Given the description of an element on the screen output the (x, y) to click on. 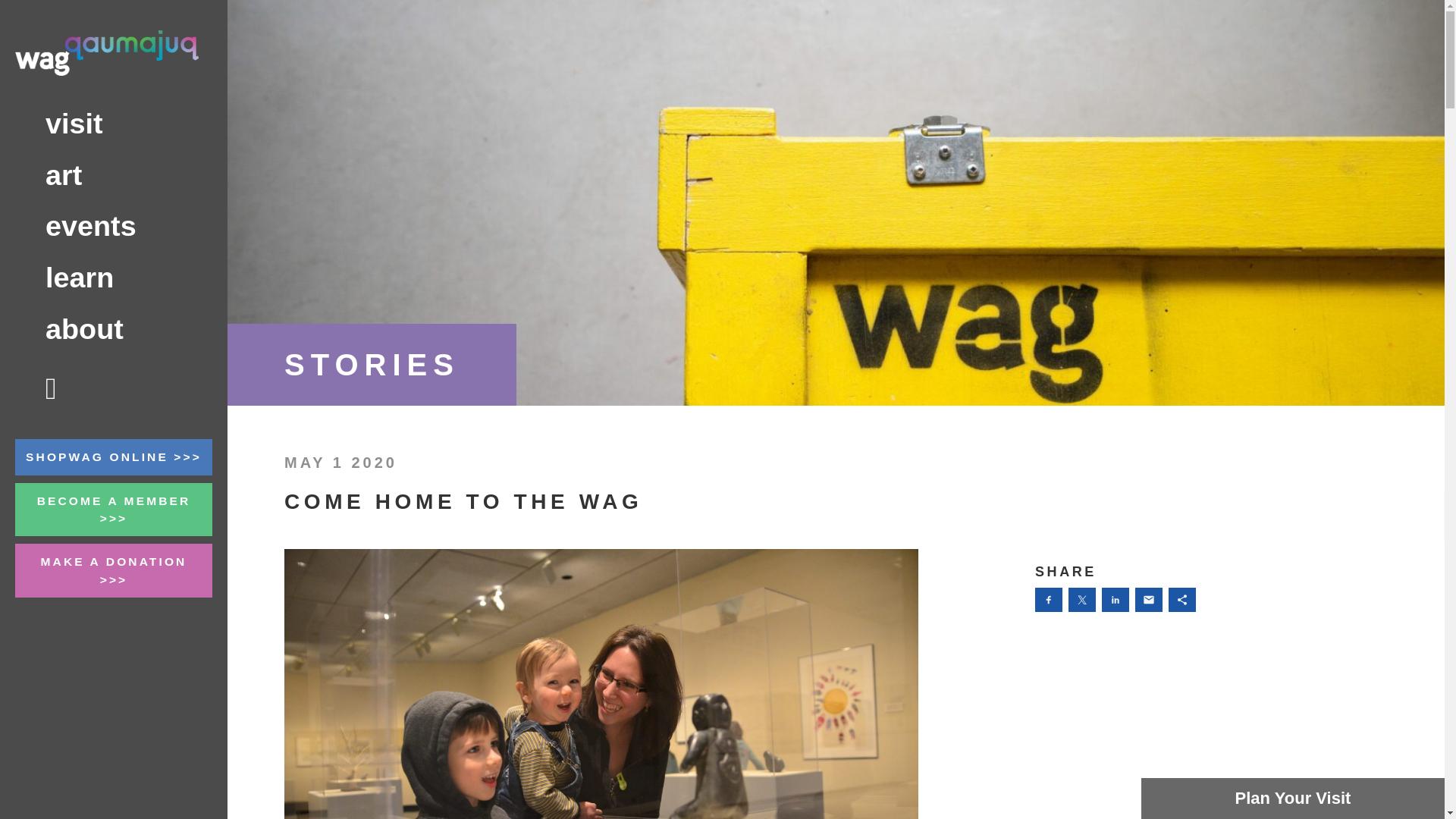
learn (113, 277)
visit (113, 123)
about (113, 329)
events (113, 226)
art (113, 175)
